Given the description of an element on the screen output the (x, y) to click on. 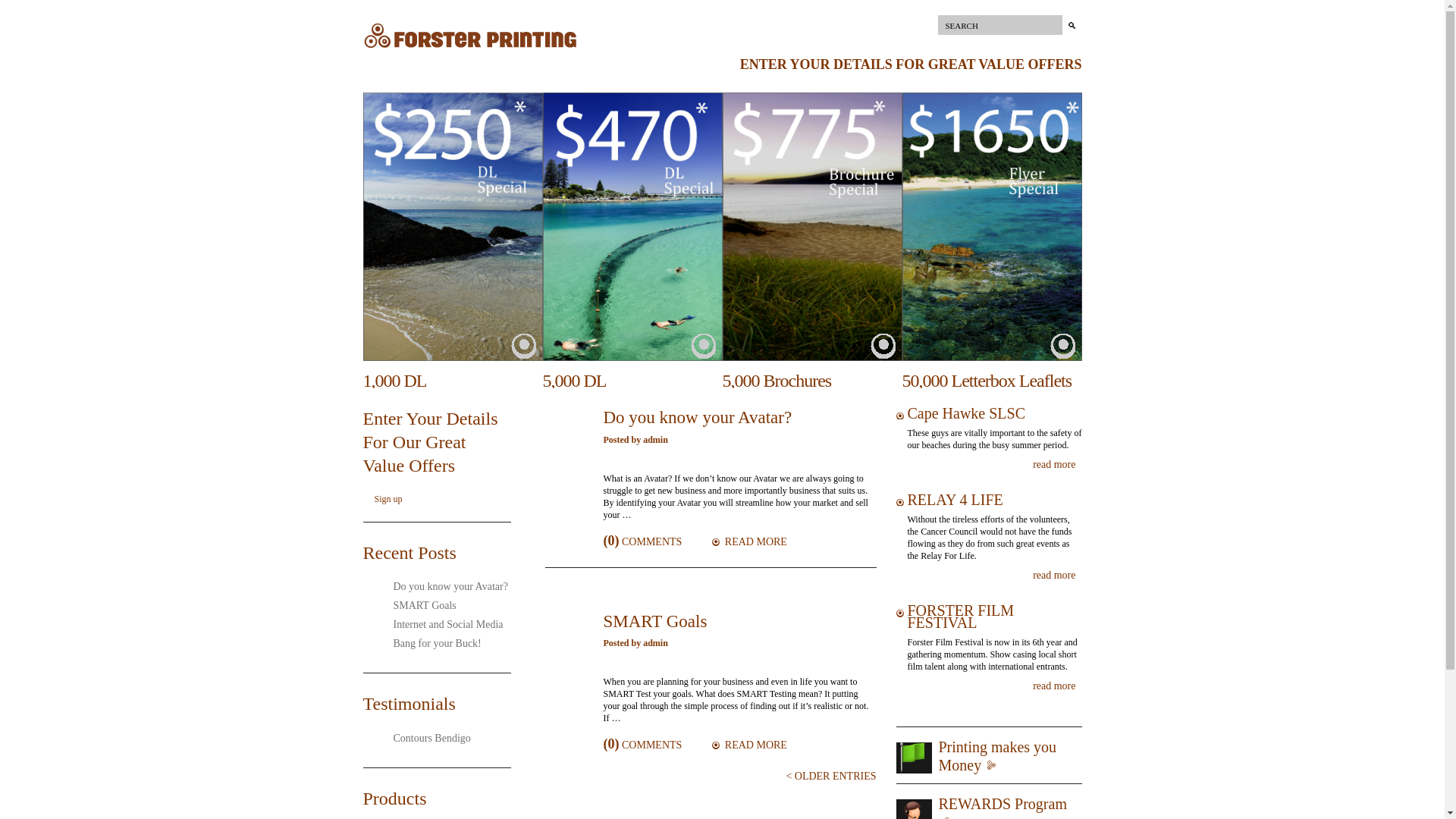
banner-img3 Element type: hover (811, 226)
ENTER YOUR DETAILS FOR GREAT VALUE OFFERS Element type: text (911, 64)
SMART Goals Element type: text (655, 621)
Do you know your Avatar? Element type: text (444, 586)
Printing makes you Money Element type: text (997, 755)
FORSTER PRINTING Element type: hover (469, 48)
Bang for your Buck! Element type: text (431, 643)
read more Element type: text (1056, 686)
  Element type: text (705, 346)
banner-img2 Element type: hover (632, 226)
  Element type: text (526, 346)
read more Element type: text (1056, 464)
REWARDS Program Element type: text (1002, 803)
banner-img4 Element type: hover (992, 226)
Sign up Element type: text (388, 498)
  Element type: text (1065, 346)
Internet and Social Media Element type: text (442, 624)
read more Element type: text (1056, 575)
  Element type: text (886, 346)
< OLDER ENTRIES Element type: text (830, 776)
banner-img1 Element type: hover (452, 226)
READ MORE Element type: text (749, 744)
READ MORE Element type: text (749, 541)
Contours Bendigo Element type: text (426, 737)
(0) COMMENTS Element type: text (642, 541)
Do you know your Avatar? Element type: text (697, 417)
search Element type: text (1071, 24)
SMART Goals Element type: text (418, 605)
(0) COMMENTS Element type: text (642, 744)
